Given the description of an element on the screen output the (x, y) to click on. 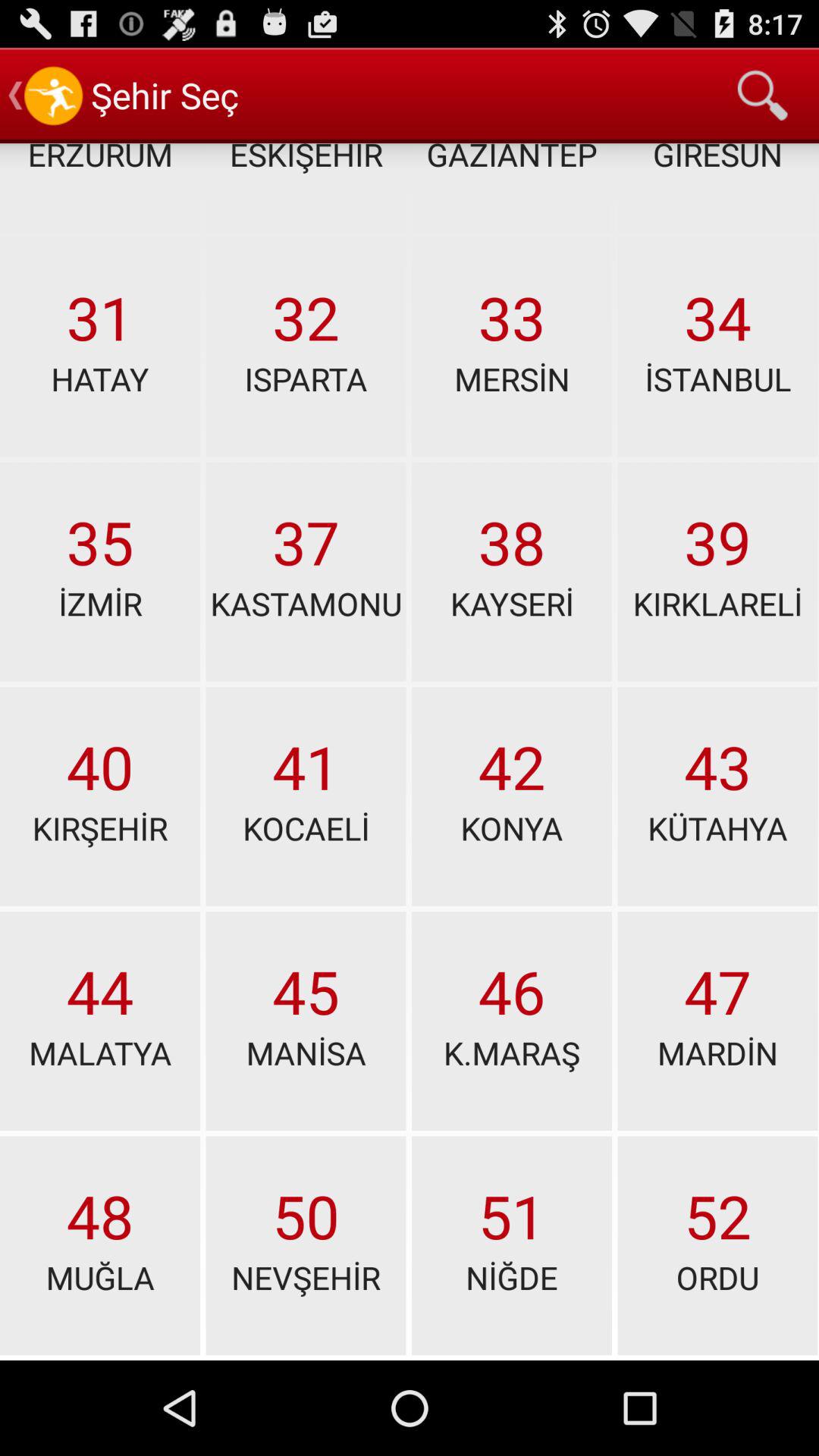
select the icon which is at the top right corner (763, 95)
